Given the description of an element on the screen output the (x, y) to click on. 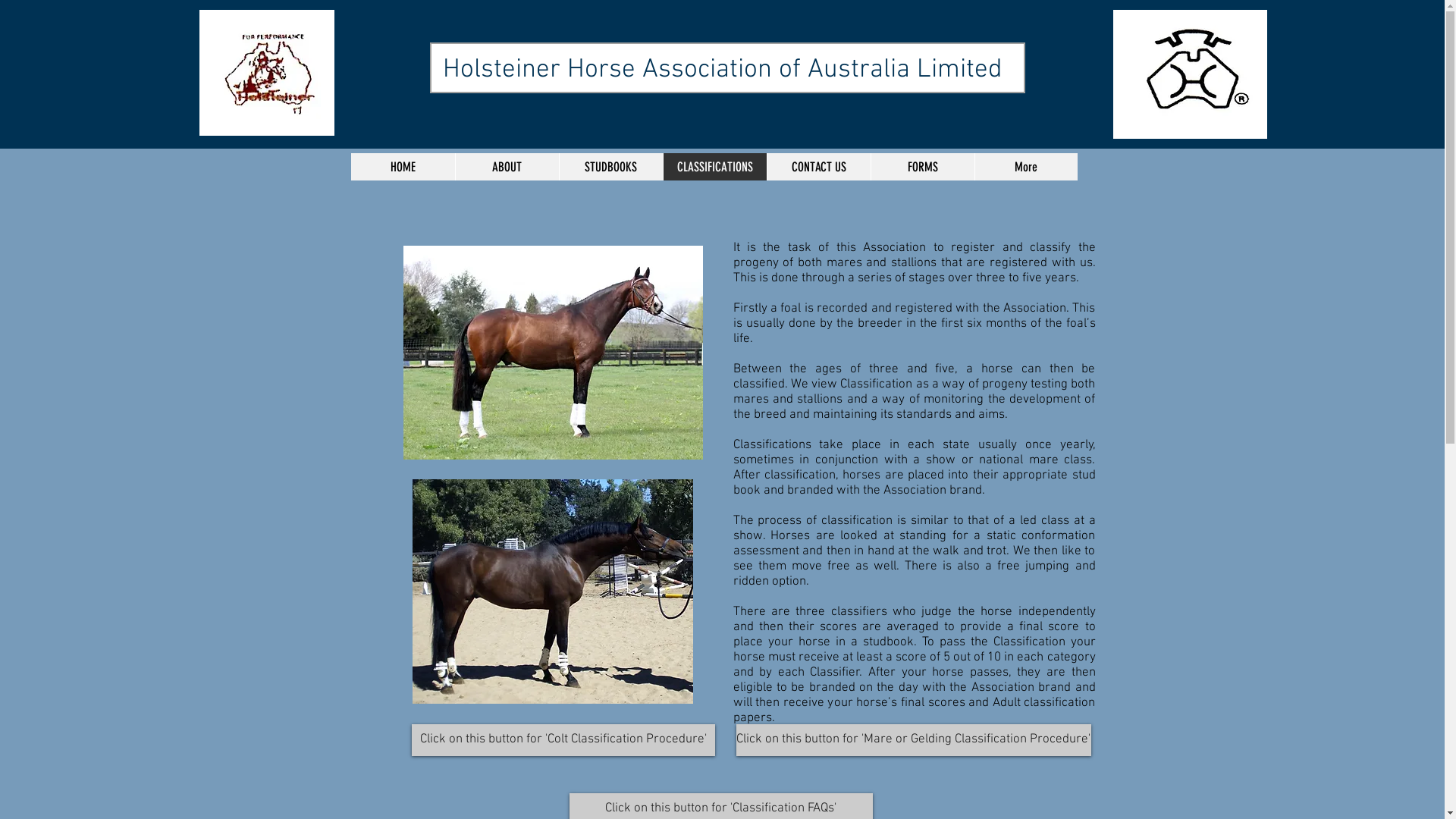
HOME Element type: text (402, 166)
STUDBOOKS Element type: text (610, 166)
Holsteiner Horse Association of Australia Limited Element type: text (722, 69)
CLASSIFICATIONS Element type: text (714, 166)
Click on this button for 'Colt Classification Procedure' Element type: text (562, 740)
ABOUT Element type: text (506, 166)
CONTACT US Element type: text (817, 166)
FORMS Element type: text (922, 166)
